Given the description of an element on the screen output the (x, y) to click on. 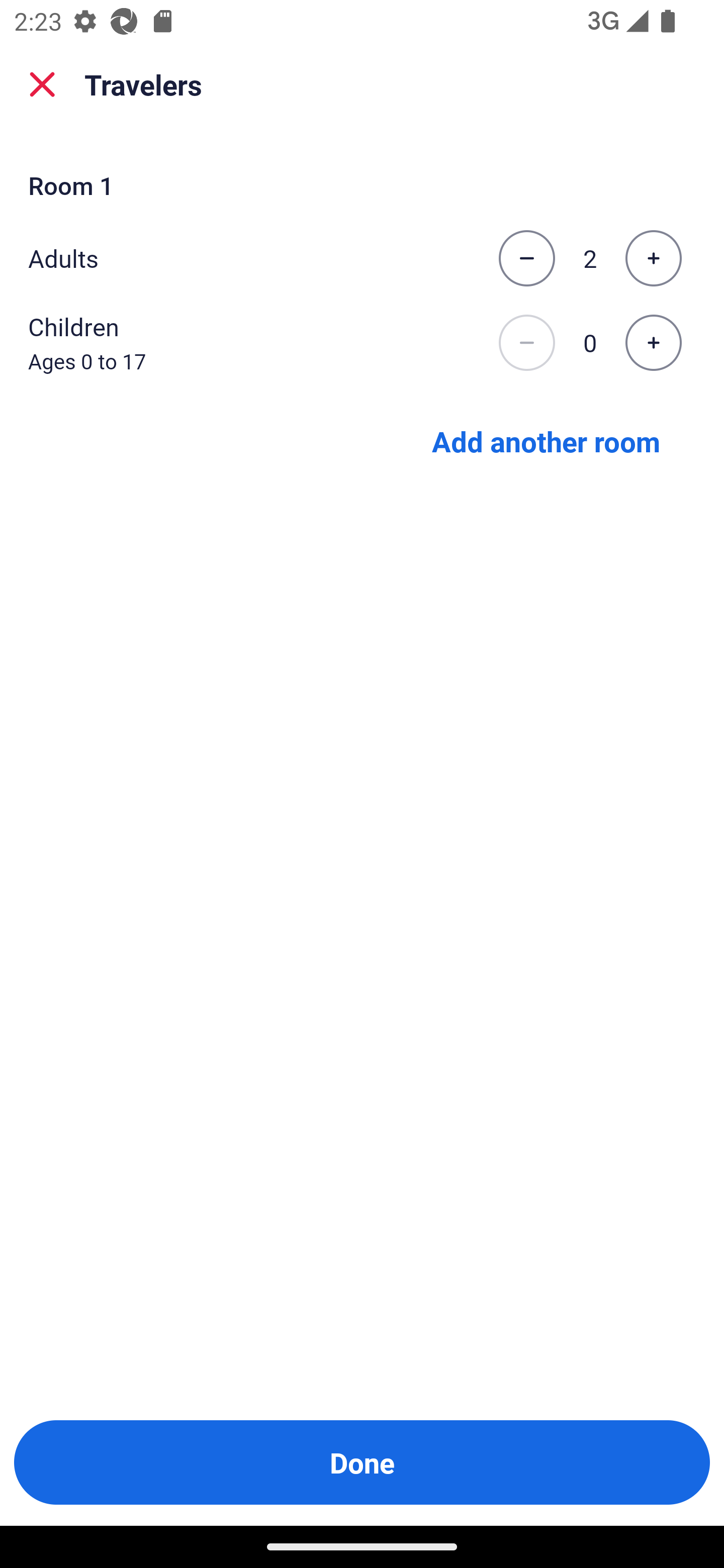
close (42, 84)
Decrease the number of adults (526, 258)
Increase the number of adults (653, 258)
Decrease the number of children (526, 343)
Increase the number of children (653, 343)
Add another room (545, 440)
Done (361, 1462)
